Given the description of an element on the screen output the (x, y) to click on. 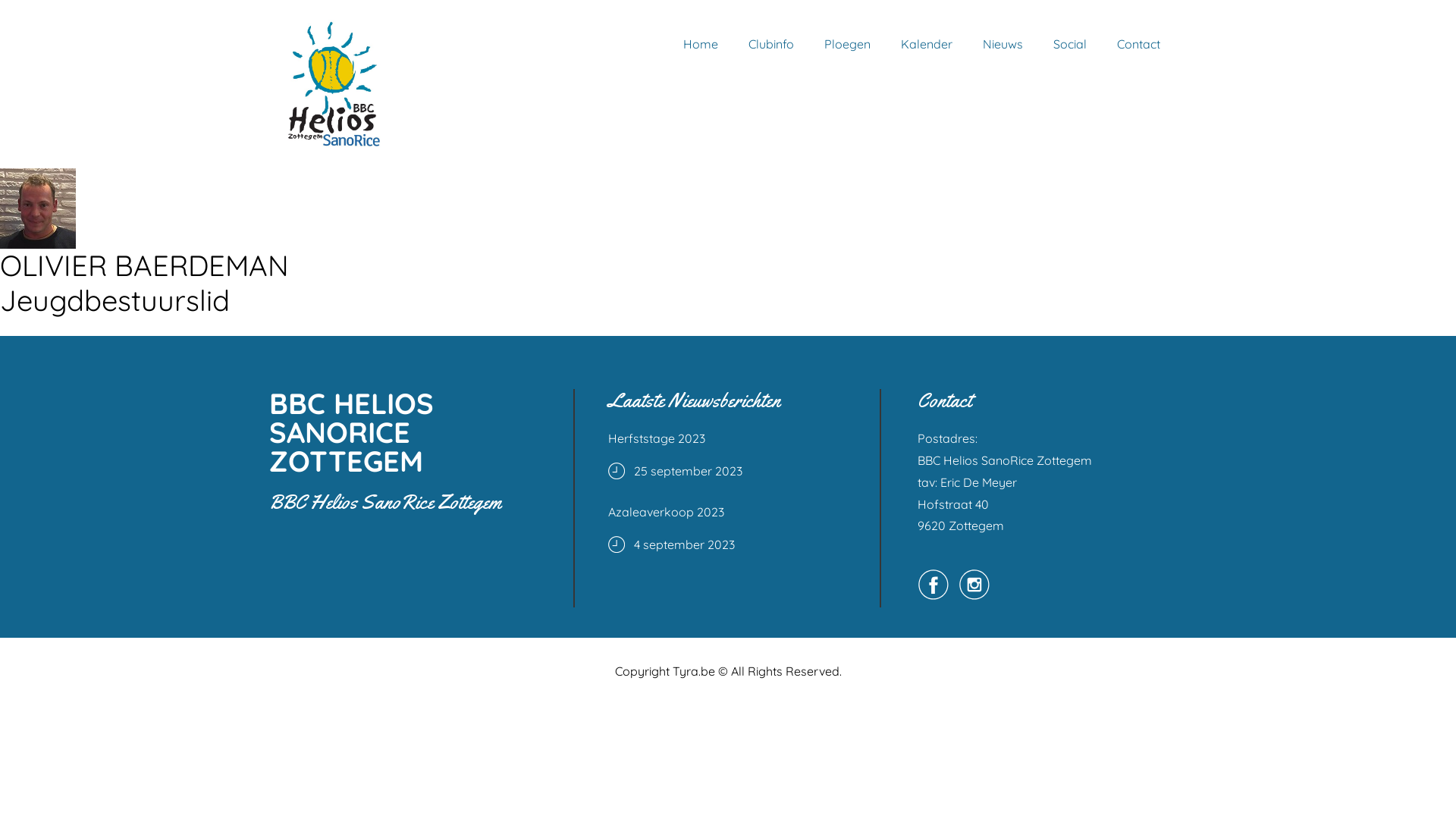
Contact Element type: text (1138, 43)
Home Element type: text (700, 43)
Nieuws Element type: text (1002, 43)
Kalender Element type: text (926, 43)
Clubinfo Element type: text (771, 43)
Azaleaverkoop 2023 Element type: text (726, 511)
Herfststage 2023 Element type: text (726, 437)
Ploegen Element type: text (847, 43)
Social Element type: text (1069, 43)
